Given the description of an element on the screen output the (x, y) to click on. 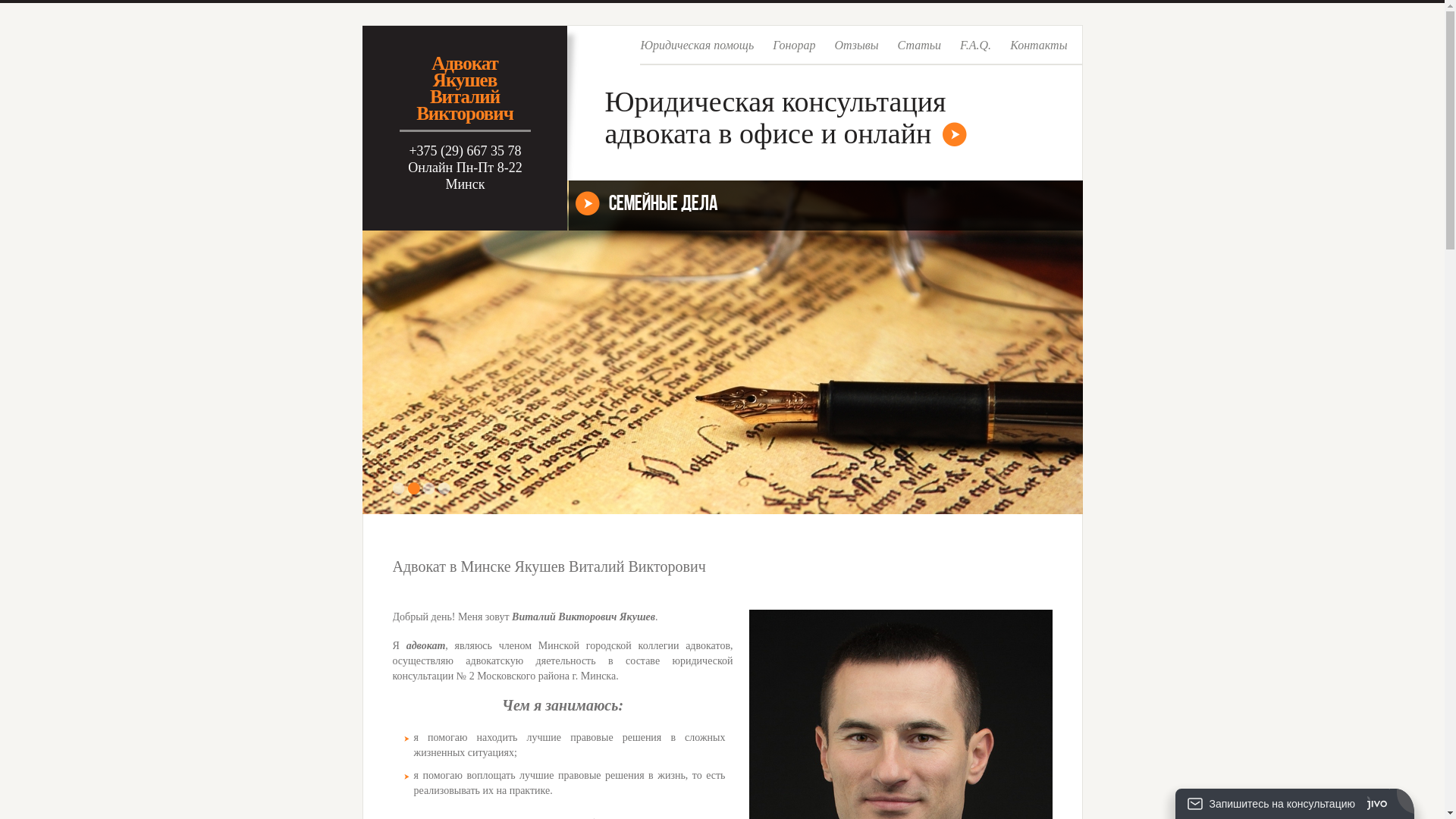
4 Element type: text (444, 488)
3 Element type: text (429, 488)
1 Element type: text (398, 488)
2 Element type: text (413, 488)
F.A.Q. Element type: text (975, 50)
